Given the description of an element on the screen output the (x, y) to click on. 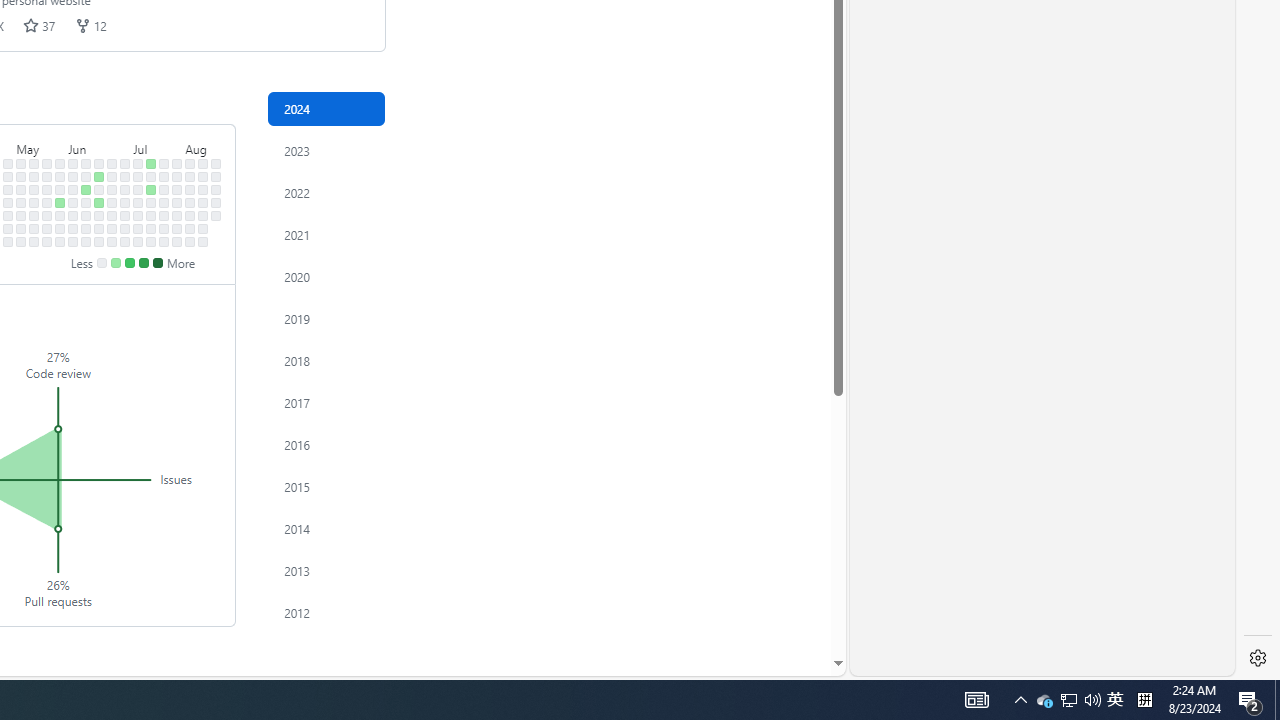
2019 (326, 318)
No contributions on August 13th. (203, 189)
2015 (326, 485)
No contributions on July 13th. (138, 241)
No contributions on June 29th. (112, 241)
No contributions on August 10th. (190, 241)
No contributions on May 2nd. (8, 215)
No contributions on August 21st. (216, 202)
Contribution activity in 2023 (326, 150)
No contributions on June 1st. (60, 241)
No contributions on July 7th. (138, 163)
No contributions on July 5th. (125, 228)
No contributions on July 9th. (138, 189)
No contributions on July 28th. (177, 163)
No contributions on May 11th. (20, 241)
